Given the description of an element on the screen output the (x, y) to click on. 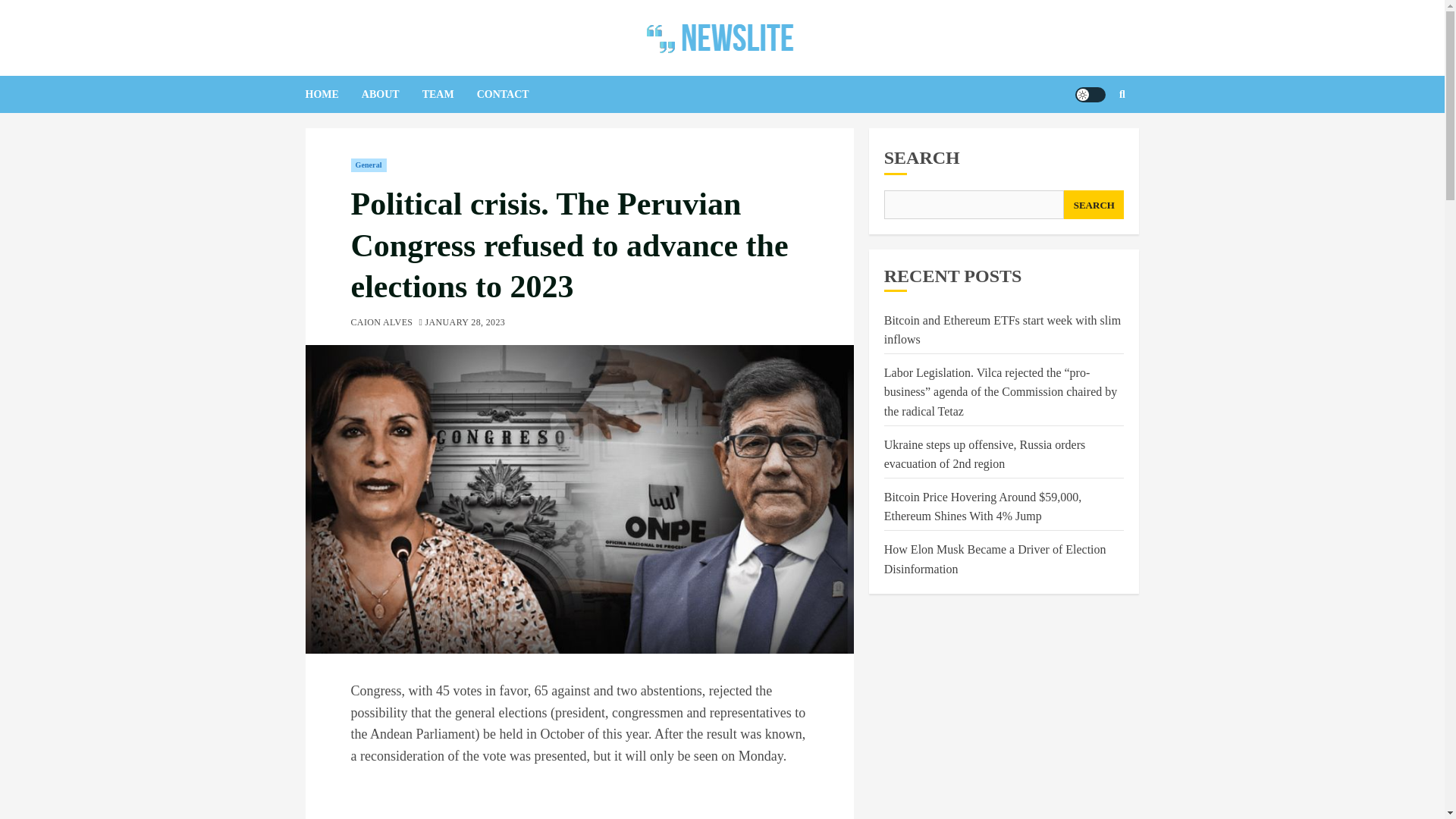
CAION ALVES (381, 323)
JANUARY 28, 2023 (465, 323)
CONTACT (514, 94)
Bitcoin and Ethereum ETFs start week with slim inflows (1002, 330)
HOME (332, 94)
TEAM (449, 94)
How Elon Musk Became a Driver of Election Disinformation (994, 559)
Search (1092, 140)
Advertisement (578, 798)
